Given the description of an element on the screen output the (x, y) to click on. 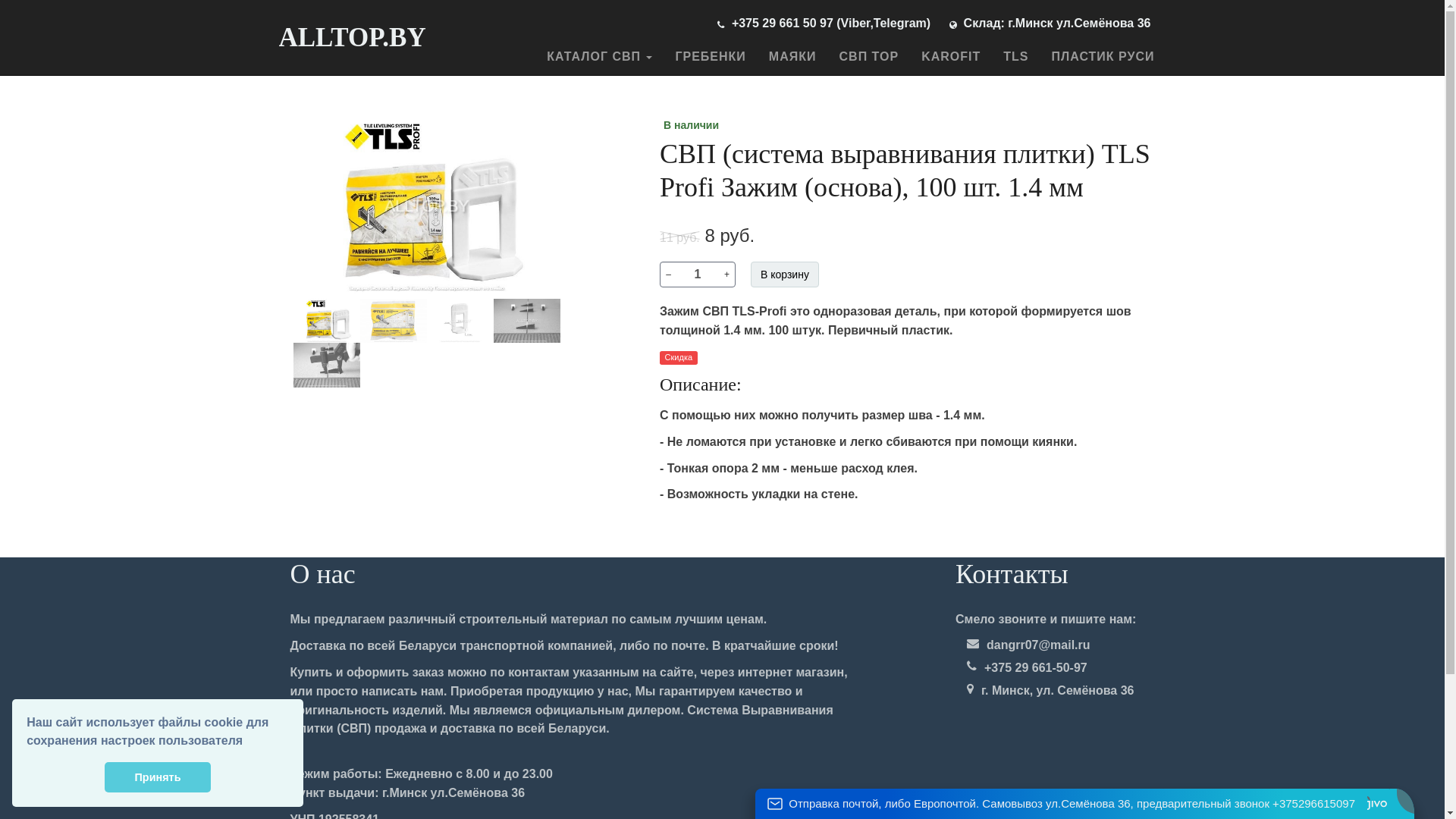
+ Element type: text (726, 274)
ALLTOP.BY Element type: text (354, 37)
KAROFIT Element type: text (950, 56)
TLS Element type: text (1015, 56)
